Given the description of an element on the screen output the (x, y) to click on. 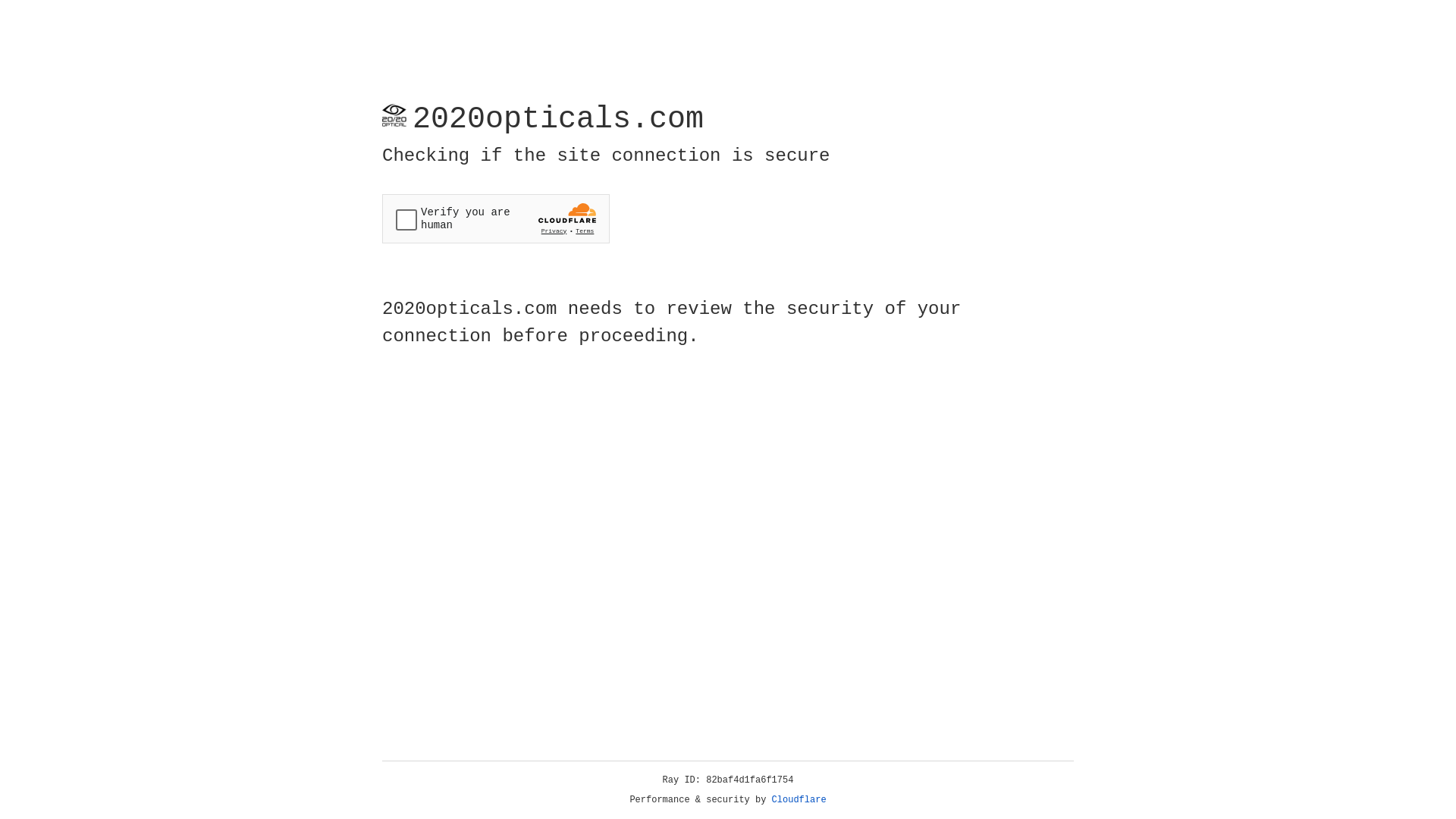
Widget containing a Cloudflare security challenge Element type: hover (495, 218)
Cloudflare Element type: text (798, 799)
